Given the description of an element on the screen output the (x, y) to click on. 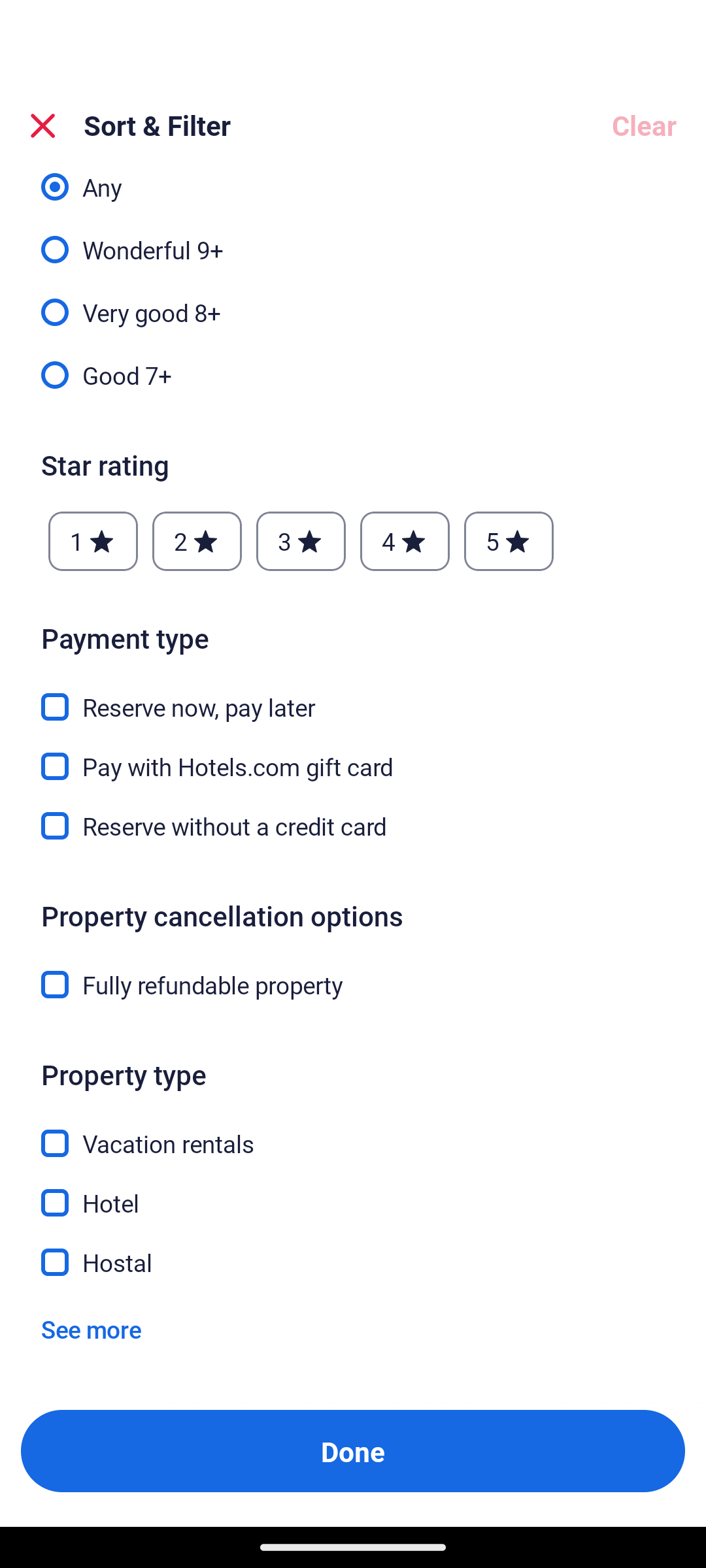
Clear (643, 125)
Close Sort and Filter (43, 125)
Wonderful 9+ (352, 237)
Very good 8+ (352, 300)
Good 7+ (352, 373)
1 (92, 541)
2 (197, 541)
3 (300, 541)
4 (404, 541)
5 (508, 541)
Reserve now, pay later, Reserve now, pay later (352, 695)
Vacation rentals, Vacation rentals (352, 1131)
Hotel, Hotel (352, 1191)
Hostal, Hostal (352, 1262)
See more See more property types Link (90, 1329)
Apply and close Sort and Filter Done (352, 1450)
